Given the description of an element on the screen output the (x, y) to click on. 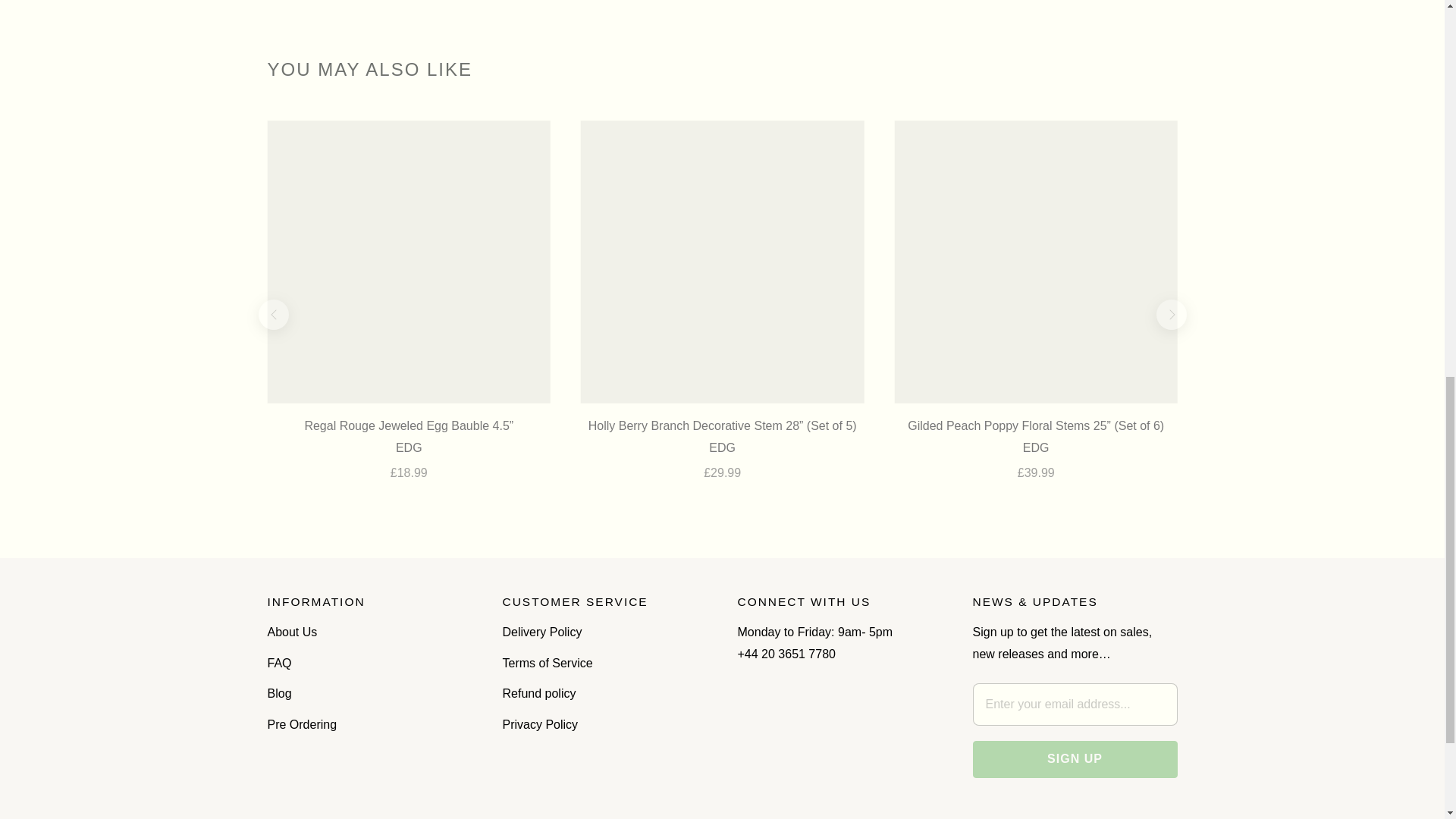
Sign Up (1074, 759)
